Given the description of an element on the screen output the (x, y) to click on. 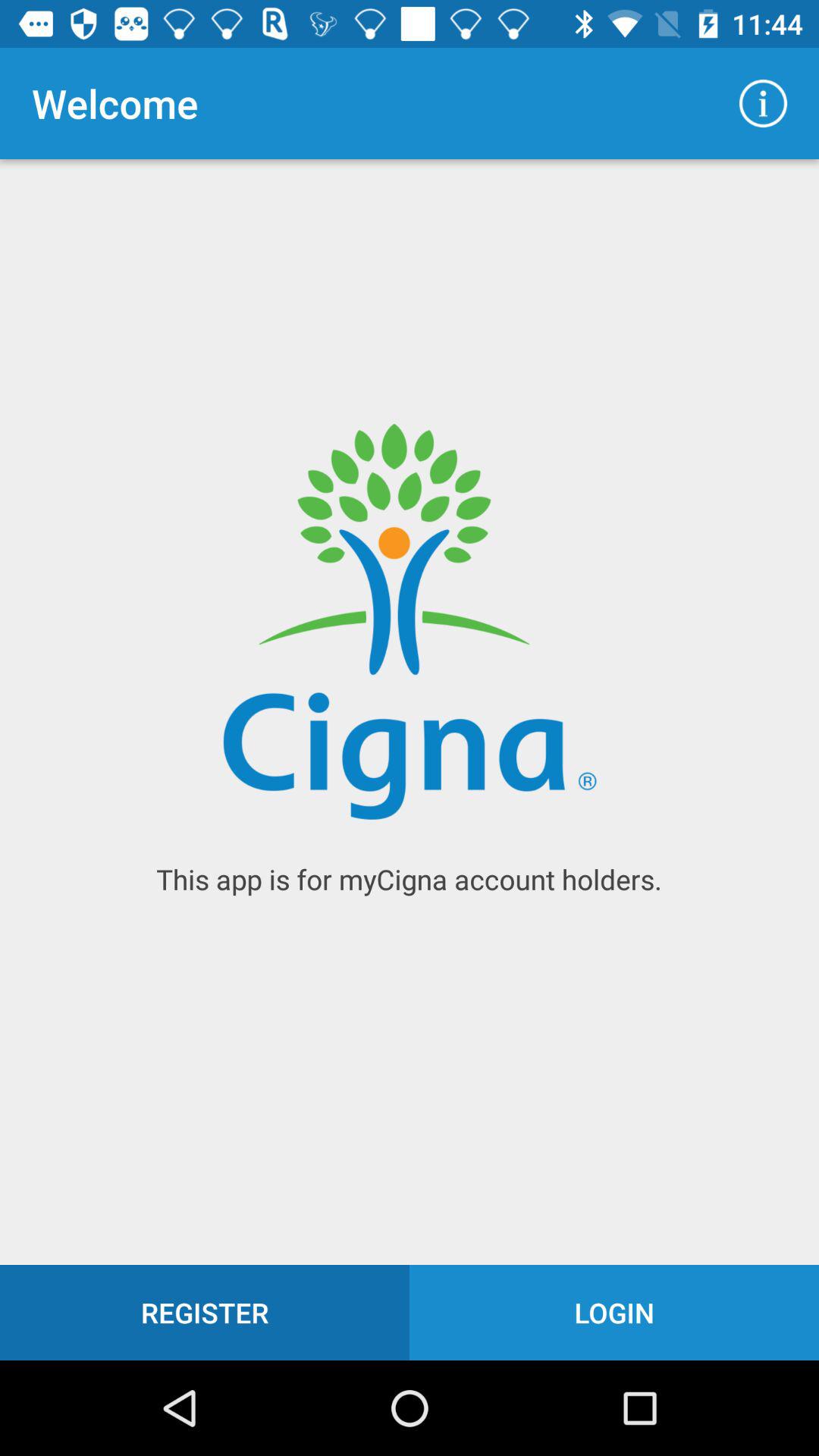
click the icon at the top right corner (763, 103)
